Given the description of an element on the screen output the (x, y) to click on. 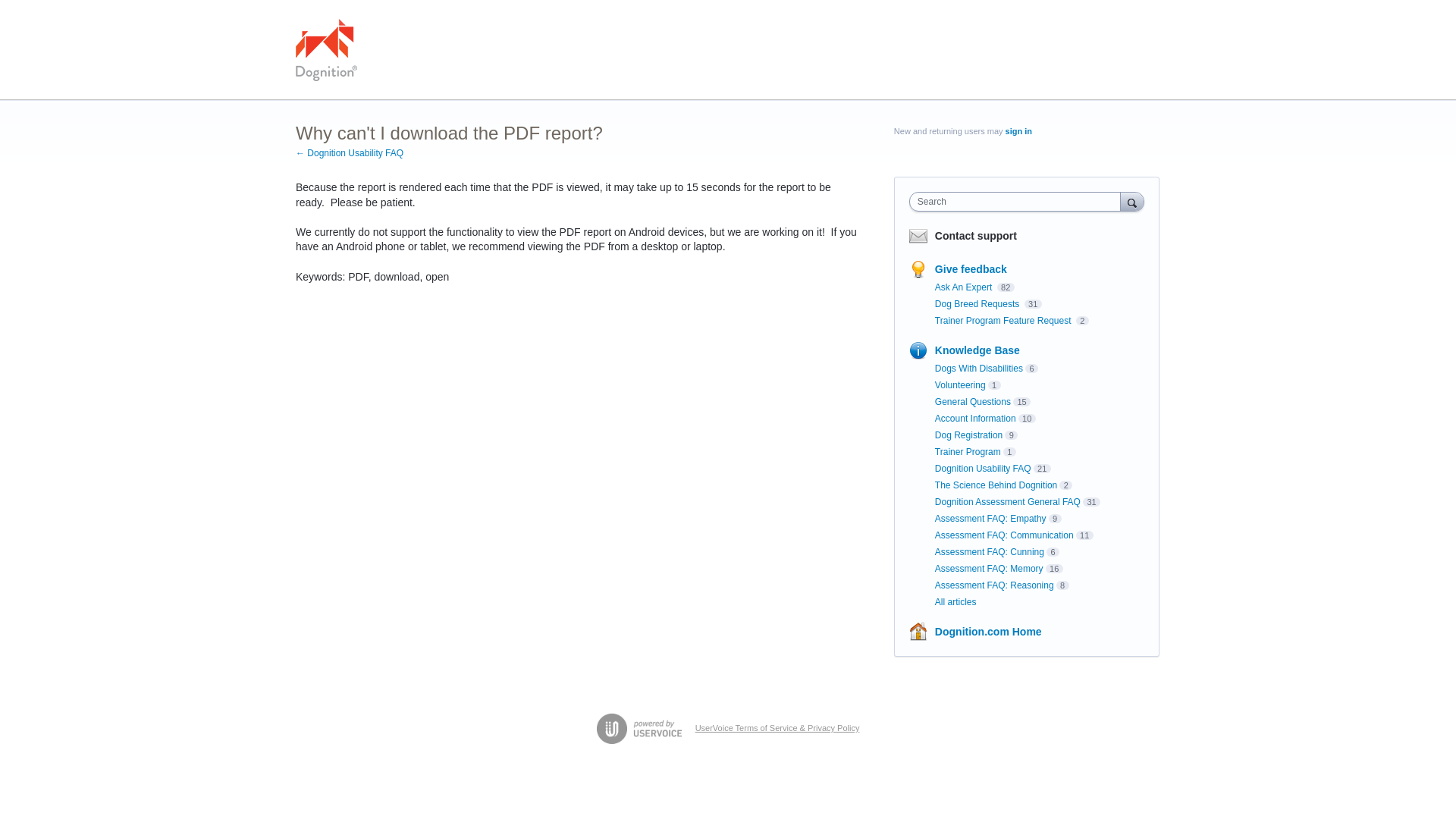
View all ideas in Ask An Expert (964, 286)
Contact support (975, 235)
Account Information (975, 418)
Frequently Asked Questions, Feedback, and Support (326, 49)
Dogs With Disabilities (978, 368)
View all articles in Account Information (975, 418)
View all ideas in Dog Breed Requests (978, 303)
All articles (955, 602)
Dognition Assessment General FAQ (1007, 501)
Volunteering (959, 385)
Assessment FAQ: Memory (988, 568)
View all articles in Assessment FAQ: Empathy (990, 518)
View all articles in Dogs With Disabilities (978, 368)
The Science Behind Dognition (995, 484)
Assessment FAQ: Communication (1004, 534)
